Given the description of an element on the screen output the (x, y) to click on. 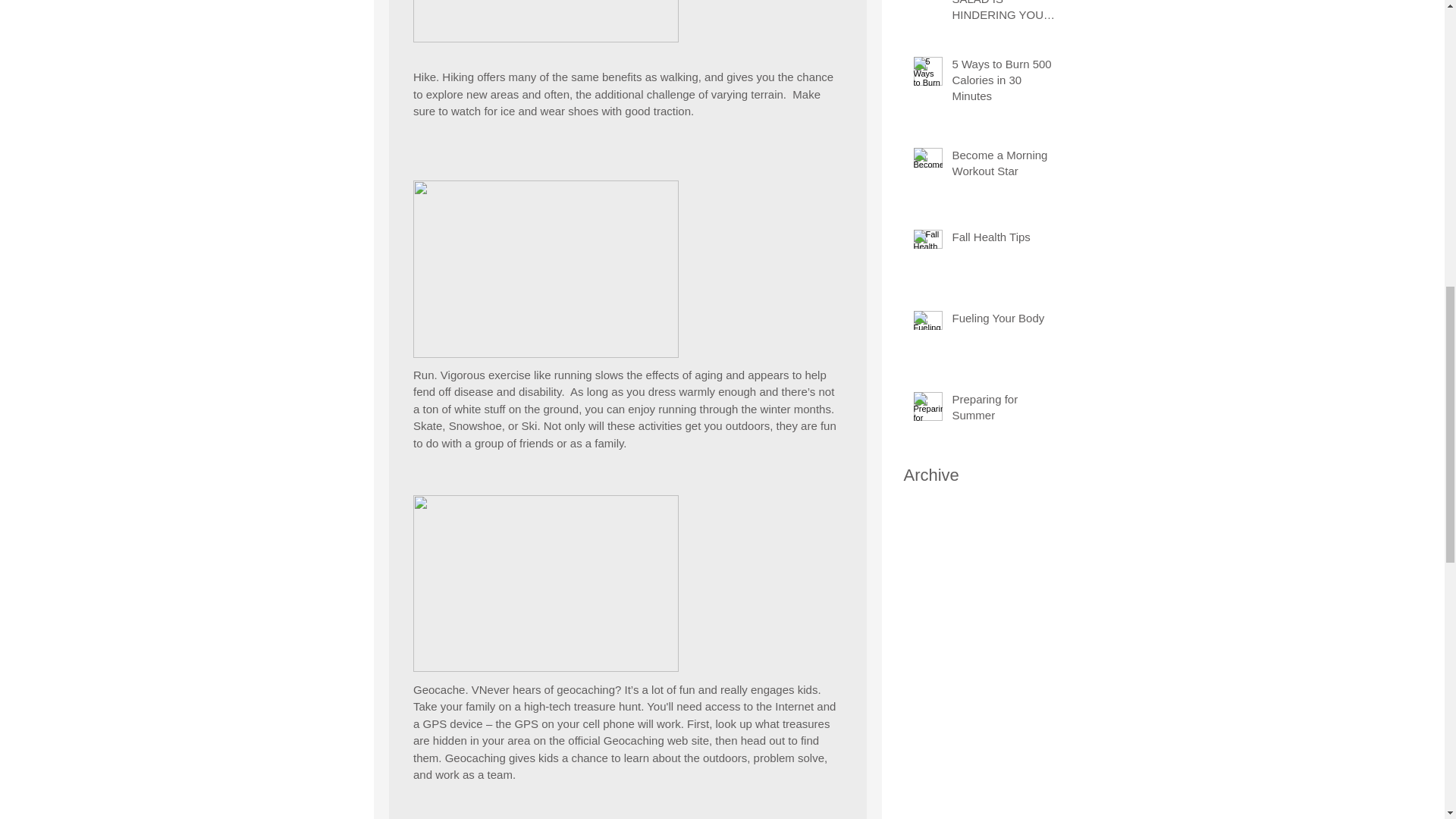
Fueling Your Body (1006, 321)
5 Ways to Burn 500 Calories in 30 Minutes (1006, 82)
Fall Health Tips (1006, 239)
Preparing for Summer (1006, 410)
5 WAYS YOUR SALAD IS HINDERING YOUR WEIGHT LOSS EFFECTS (1006, 14)
Become a Morning Workout Star (1006, 166)
